Given the description of an element on the screen output the (x, y) to click on. 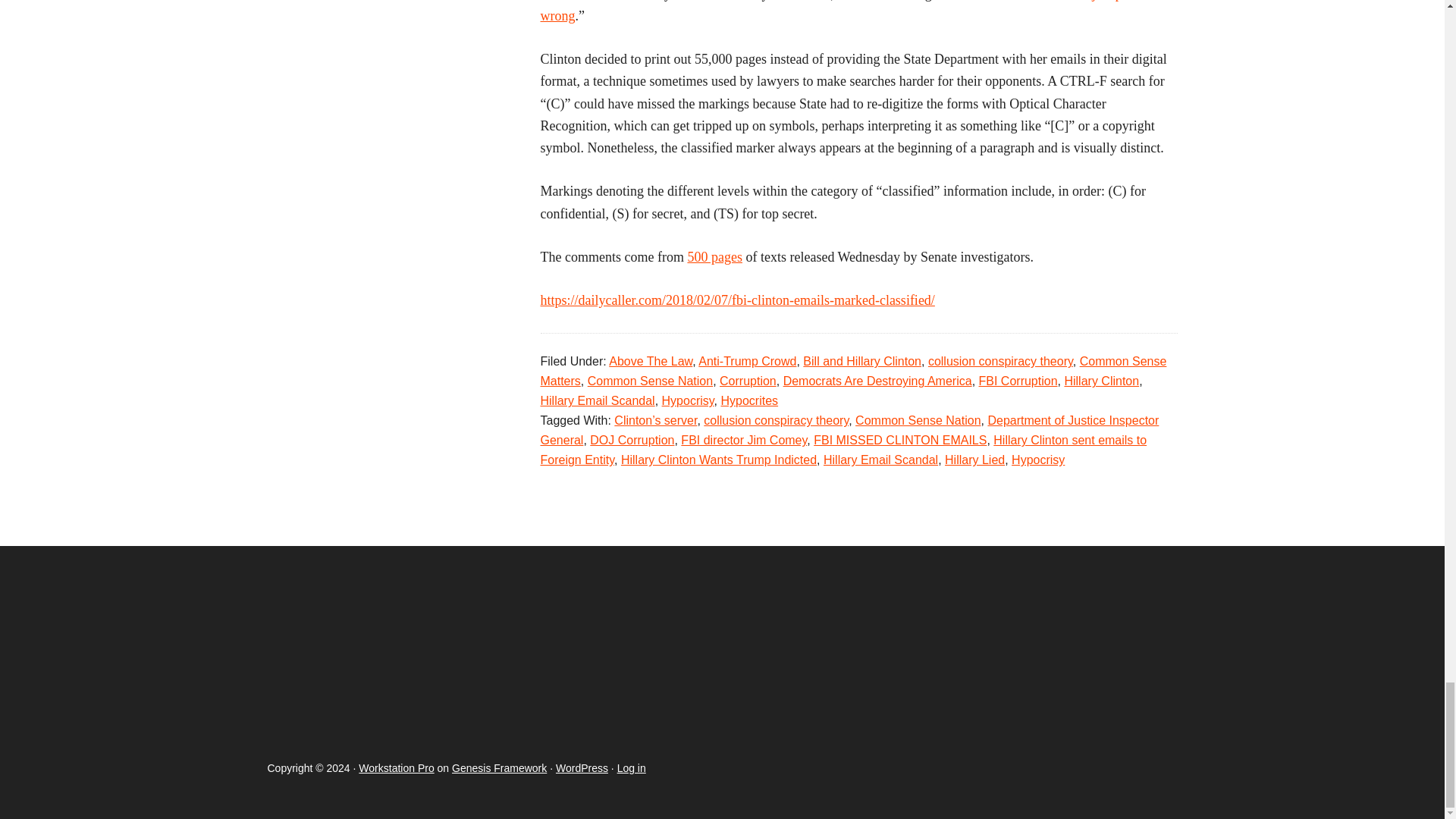
Hypocrisy (688, 400)
Hillary Email Scandal (596, 400)
Bill and Hillary Clinton (862, 360)
FBI MISSED CLINTON EMAILS (900, 440)
DOJ Corruption (631, 440)
FBI director Jim Comey (743, 440)
500 pages (714, 256)
Corruption (747, 380)
Hypocrites (748, 400)
collusion conspiracy theory (775, 420)
